Given the description of an element on the screen output the (x, y) to click on. 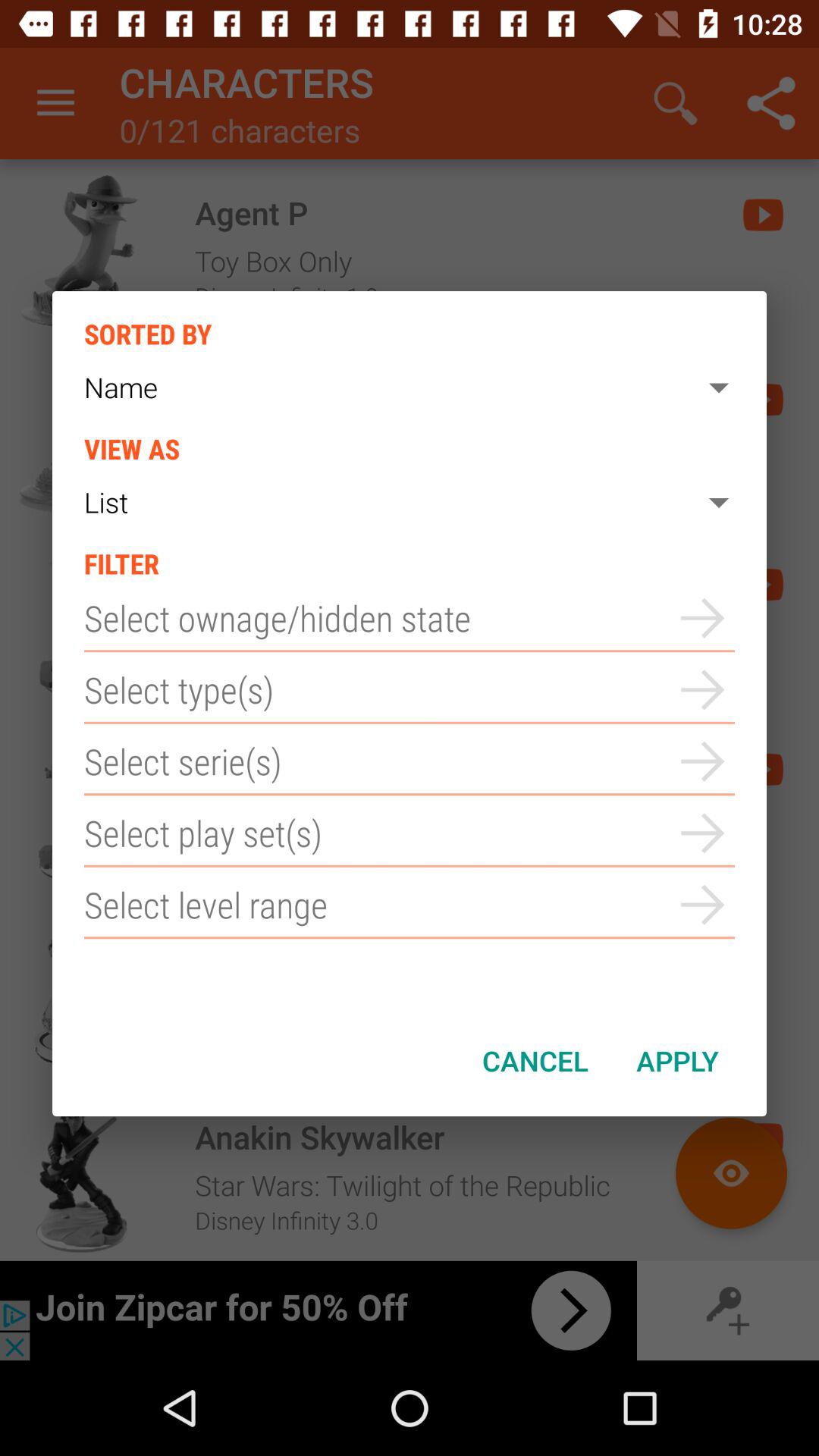
select play sets (409, 833)
